Given the description of an element on the screen output the (x, y) to click on. 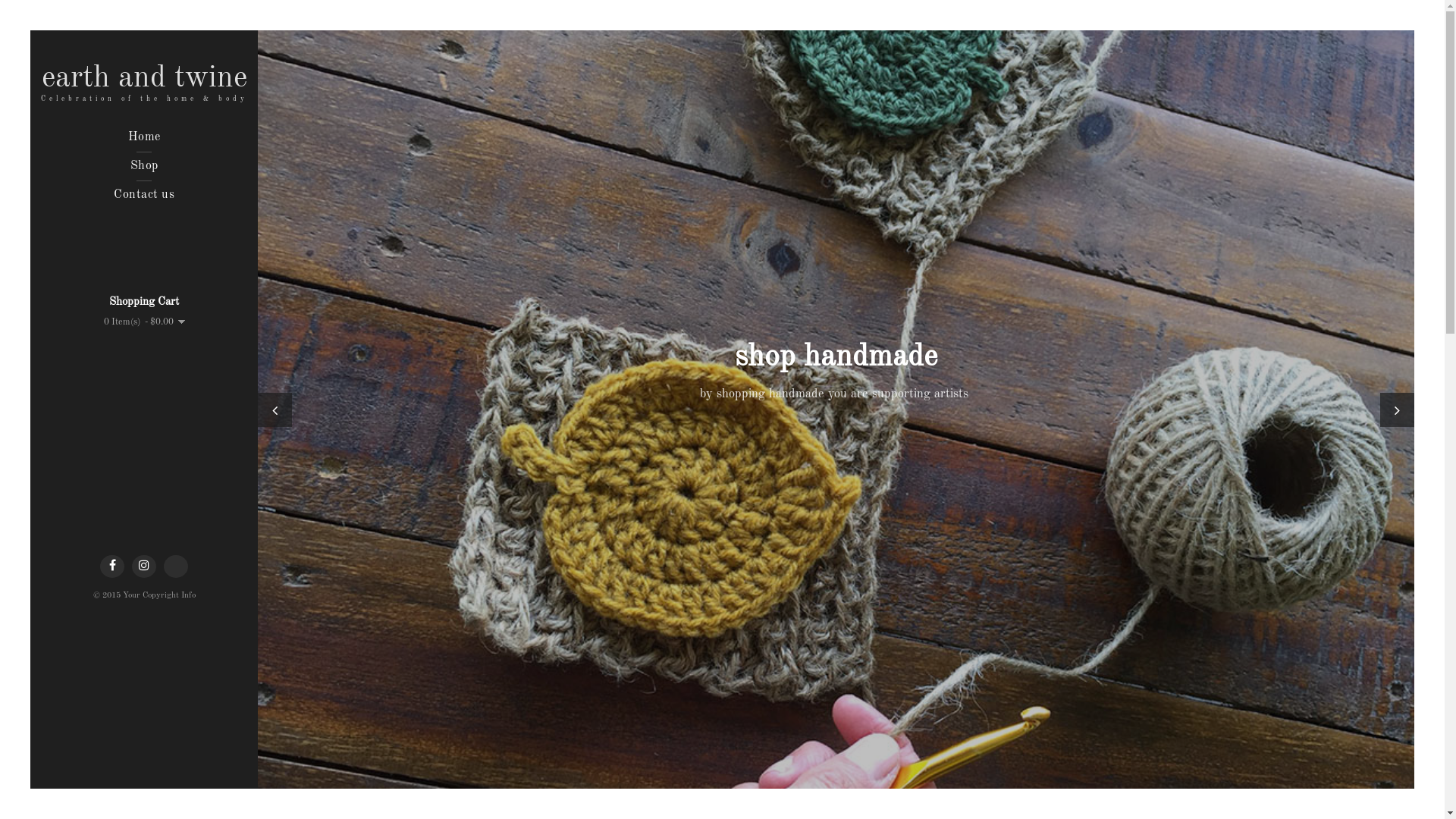
Facebook Element type: hover (111, 566)
earth and twine Element type: text (143, 78)
Etsy Element type: hover (175, 566)
0 Item(s)  - $0.00 Element type: text (143, 321)
Instagram Element type: hover (143, 566)
Contact us Element type: text (143, 194)
Shop Element type: text (143, 165)
Home Element type: text (143, 136)
